Given the description of an element on the screen output the (x, y) to click on. 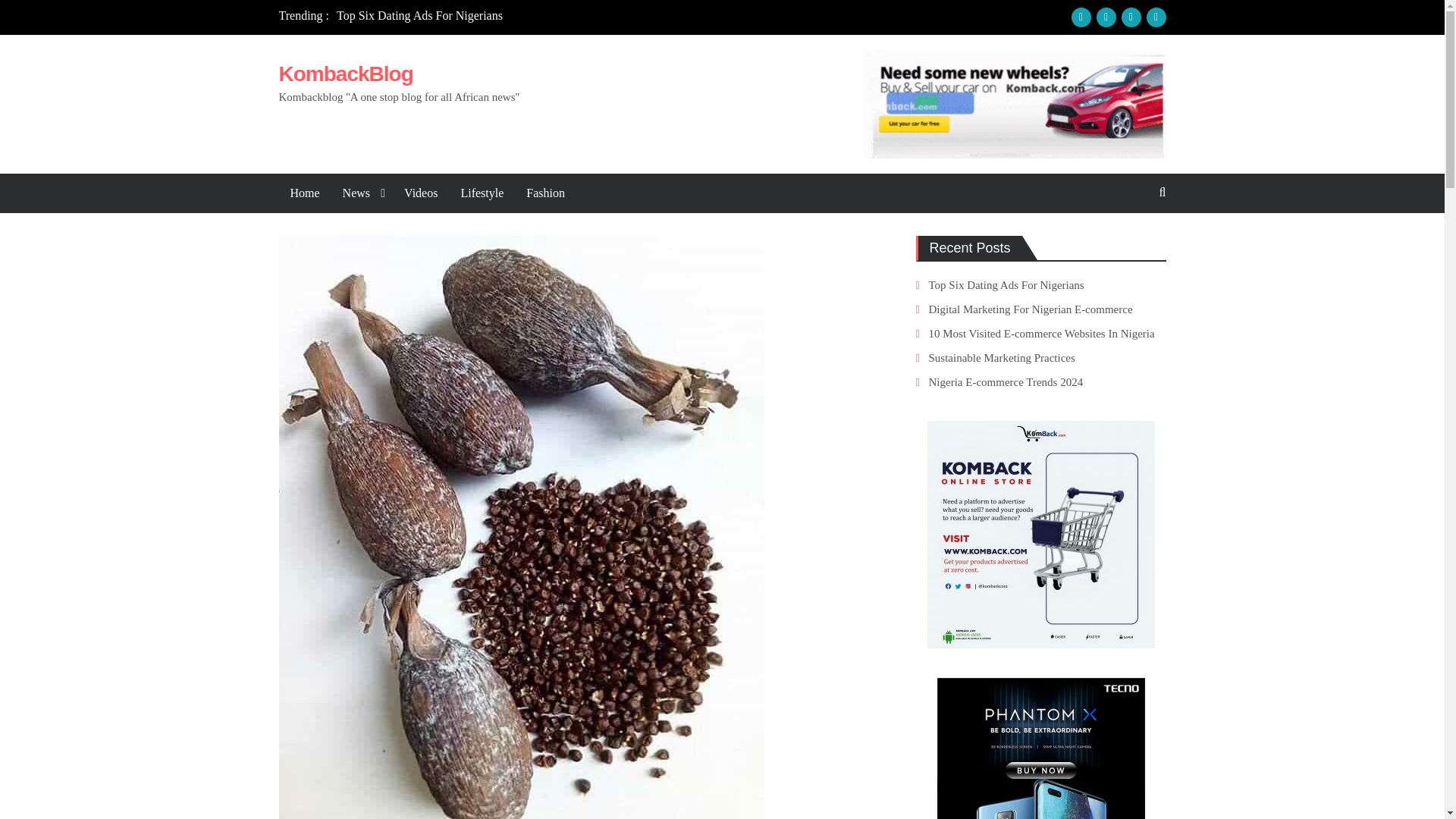
Home (305, 192)
Videos (420, 192)
youtube (1156, 17)
Lifestyle (481, 192)
Top Six Dating Ads For Nigerians (419, 15)
KombackBlog (346, 73)
News (362, 192)
Fashion (545, 192)
twitter (1130, 17)
Instagram (1106, 17)
Facebook (1080, 17)
